Given the description of an element on the screen output the (x, y) to click on. 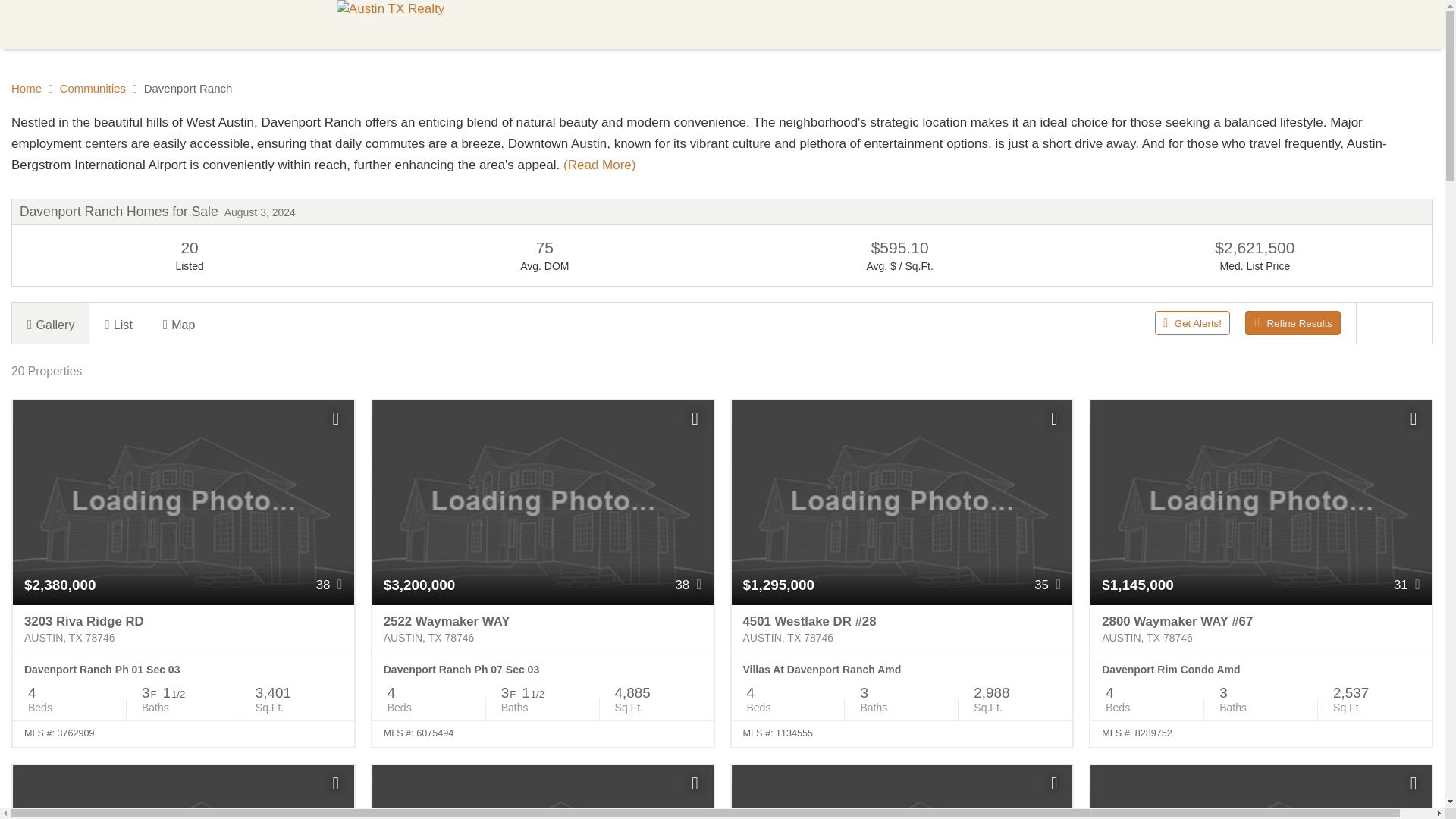
Select Language (1137, 24)
2522 Waymaker WAY Austin,  TX 78746 (542, 629)
3203 Riva Ridge RD Austin,  TX 78746 (183, 629)
Communities (629, 24)
Search (542, 24)
